Given the description of an element on the screen output the (x, y) to click on. 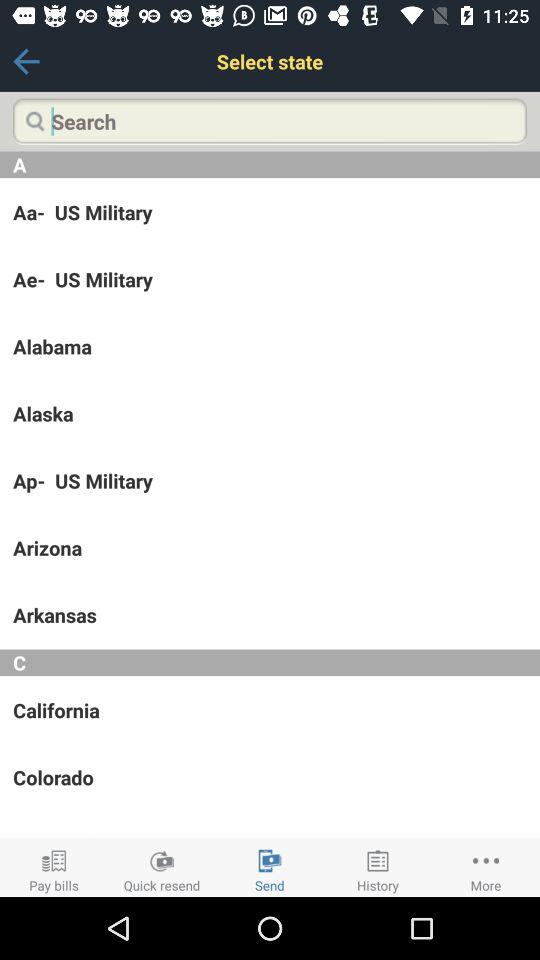
click the arkansas item (270, 615)
